Given the description of an element on the screen output the (x, y) to click on. 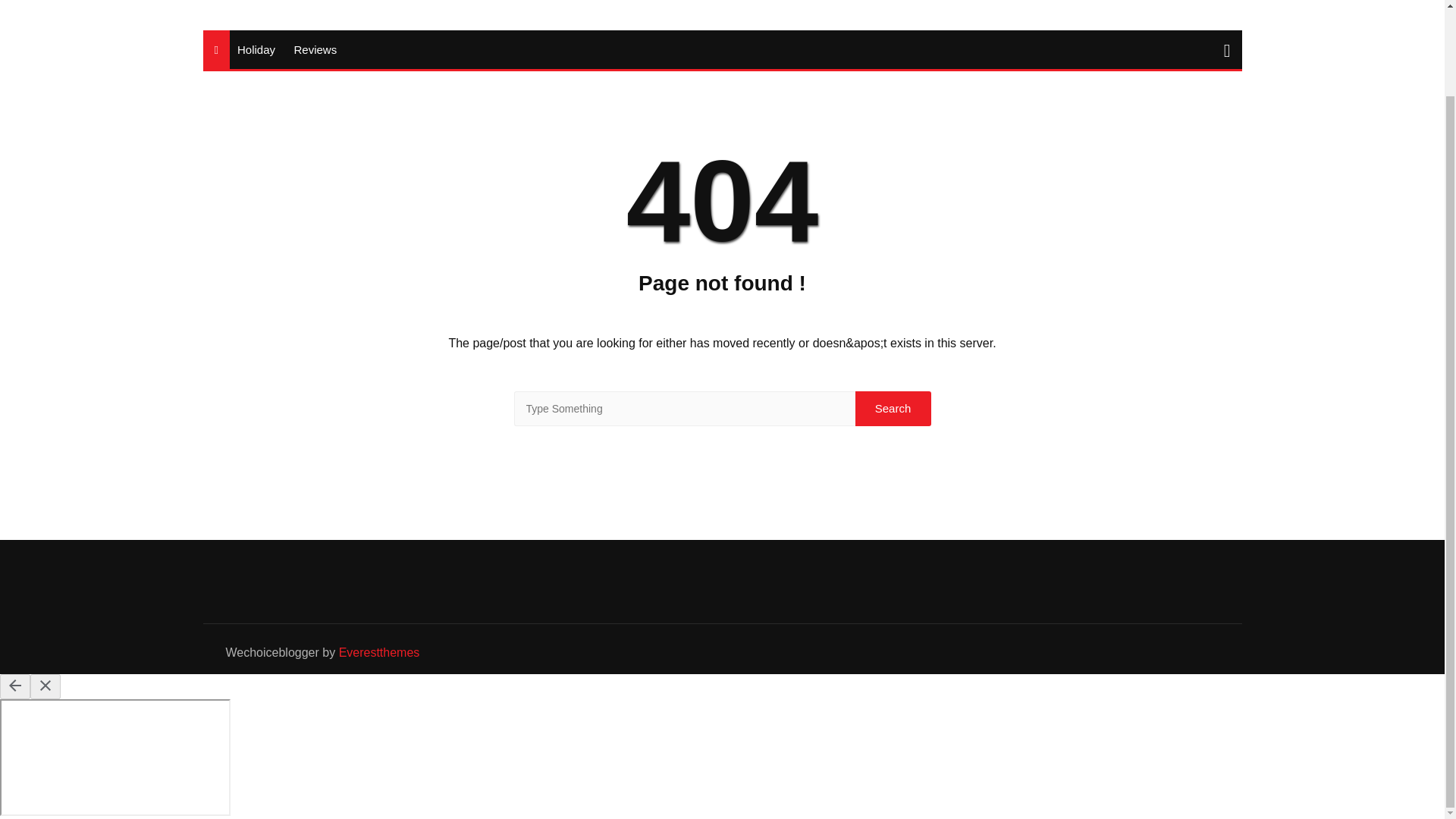
Reviews (314, 49)
Search (893, 408)
Holiday (256, 49)
Everestthemes (379, 652)
Search (893, 408)
